Given the description of an element on the screen output the (x, y) to click on. 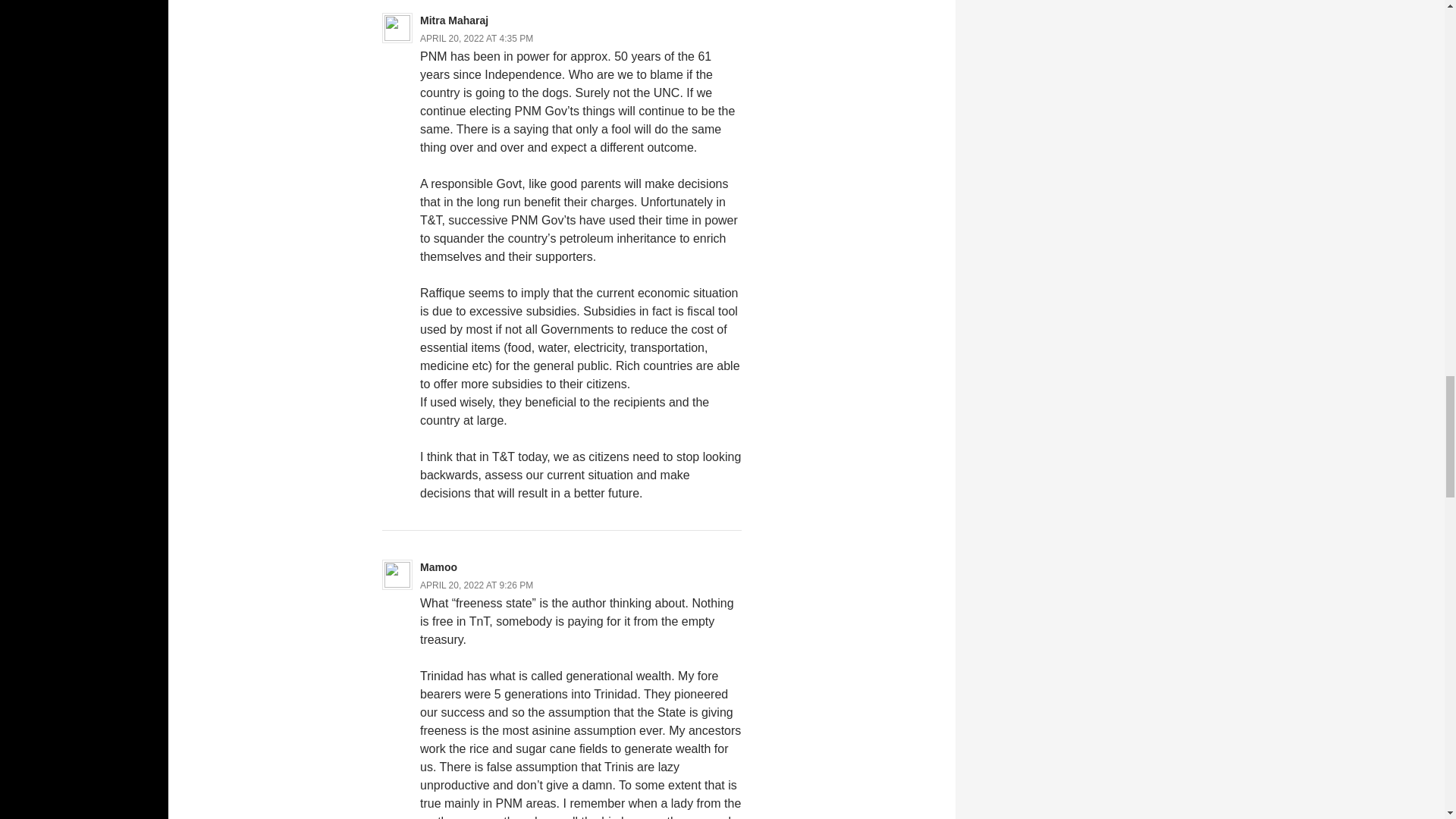
APRIL 20, 2022 AT 4:35 PM (476, 38)
APRIL 20, 2022 AT 9:26 PM (476, 584)
